Given the description of an element on the screen output the (x, y) to click on. 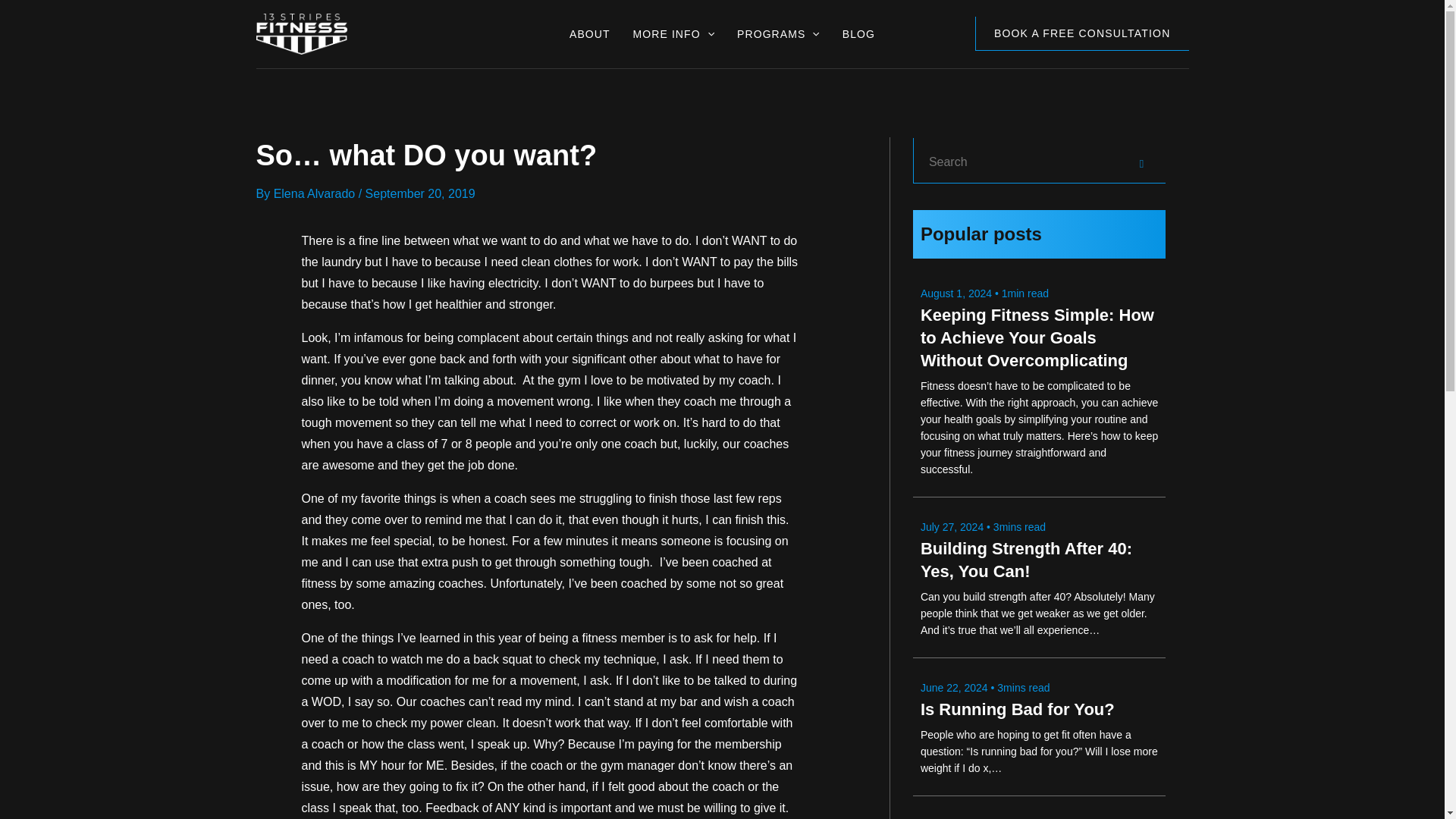
BLOG (858, 40)
ABOUT (589, 40)
PROGRAMS (778, 40)
Elena Alvarado (315, 193)
MORE INFO (673, 40)
View all posts by Elena Alvarado (315, 193)
BOOK A FREE CONSULTATION (1082, 33)
